Given the description of an element on the screen output the (x, y) to click on. 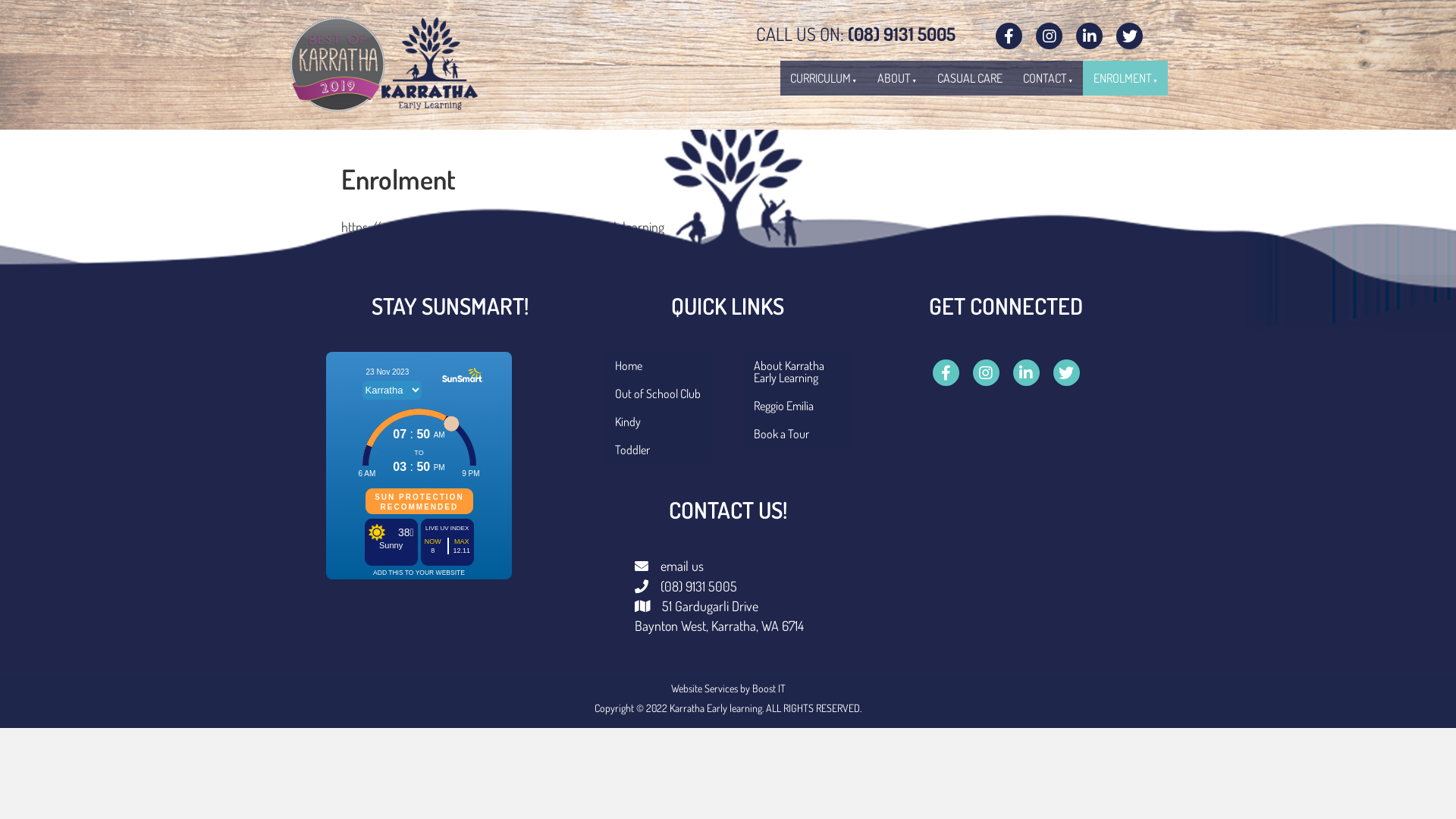
Home Element type: text (658, 365)
Book a Tour Element type: text (797, 433)
51 Gardugarli Drive
Baynton West, Karratha, WA 6714 Element type: text (718, 615)
ABOUT Element type: text (896, 77)
email us Element type: text (681, 565)
CURRICULUM Element type: text (823, 77)
About Karratha Early Learning Element type: text (797, 371)
Website Services by Boost IT Element type: text (727, 687)
(08) 9131 5005 Element type: text (901, 33)
ENROLMENT Element type: text (1125, 77)
Best-of-Karratha-2019 Element type: hover (386, 64)
Toddler Element type: text (658, 449)
CONTACT Element type: text (1047, 77)
CASUAL CARE Element type: text (969, 77)
Reggio Emilia Element type: text (797, 405)
(08) 9131 5005 Element type: text (698, 585)
Kindy Element type: text (658, 421)
Out of School Club Element type: text (658, 393)
